Given the description of an element on the screen output the (x, y) to click on. 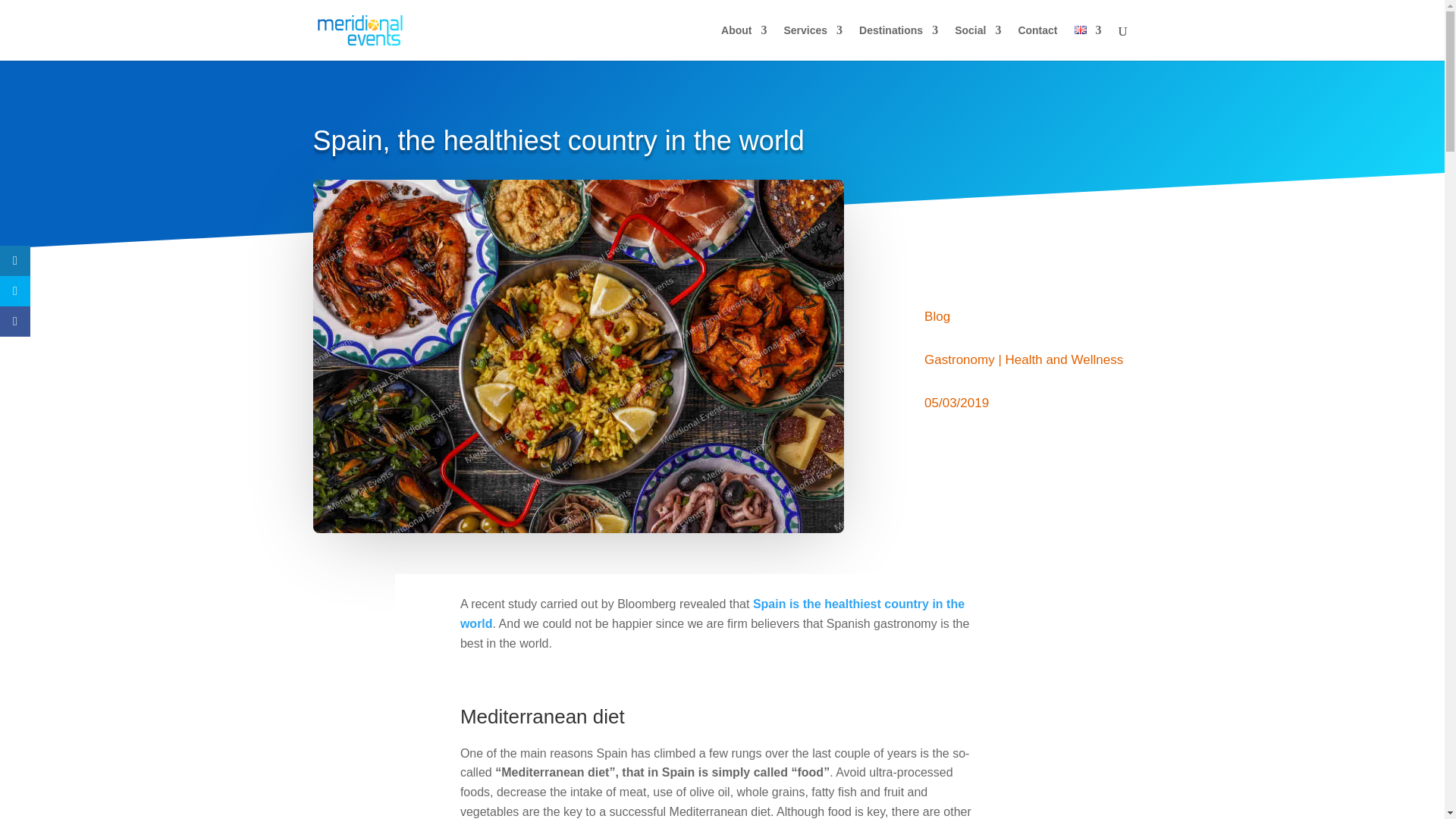
Services (813, 42)
Destinations (898, 42)
Social (978, 42)
Contact (1037, 42)
Health and Wellness (1065, 359)
About (743, 42)
Spain is the healthiest country in the world (711, 613)
Blog (937, 316)
Gastronomy (959, 359)
